Given the description of an element on the screen output the (x, y) to click on. 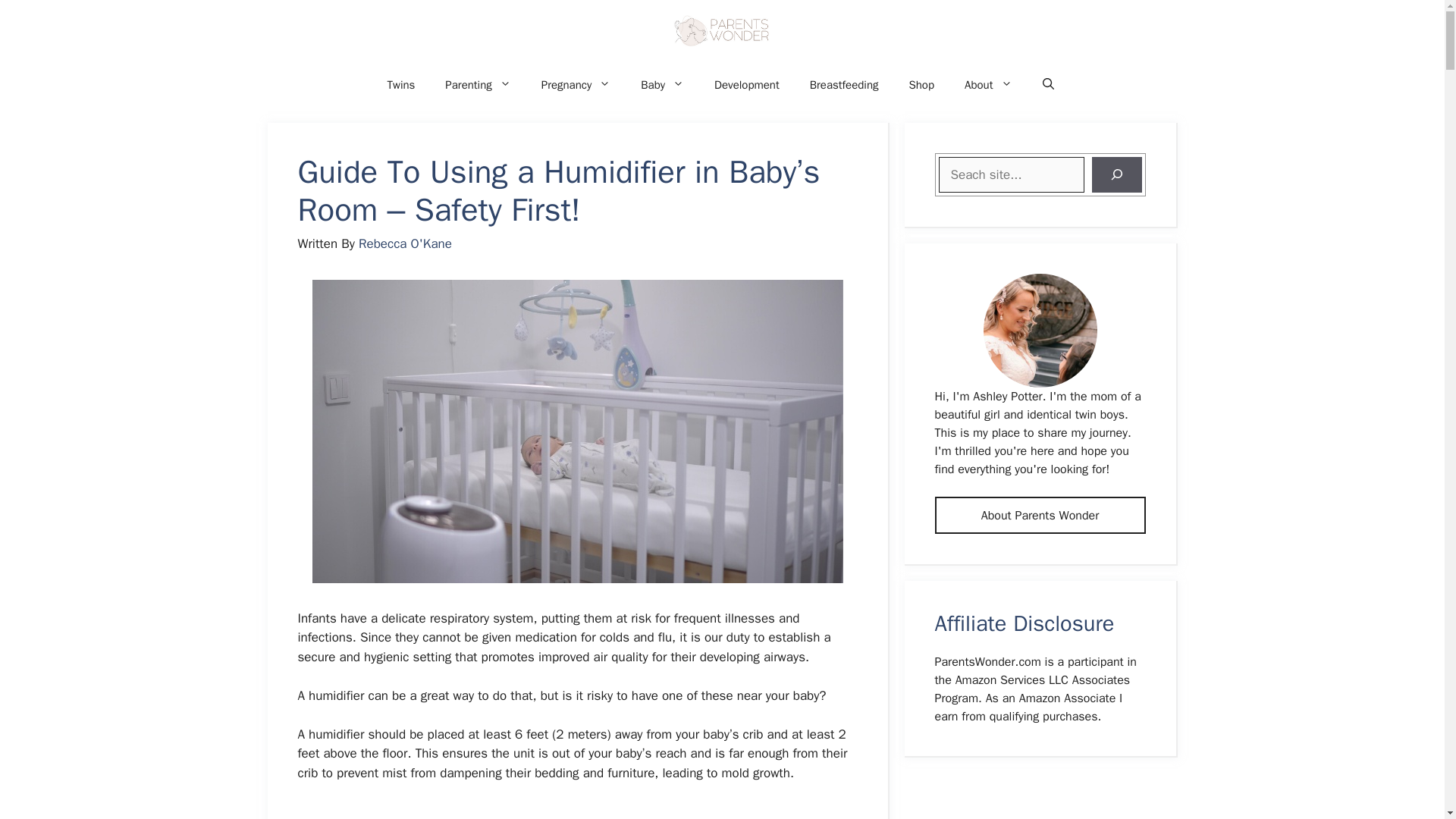
Baby (662, 84)
Parenting (477, 84)
Twins (400, 84)
Pregnancy (575, 84)
About (987, 84)
Development (746, 84)
Rebecca O'Kane (404, 243)
View all posts by Rebecca O'Kane (404, 243)
Shop (921, 84)
Breastfeeding (843, 84)
